Given the description of an element on the screen output the (x, y) to click on. 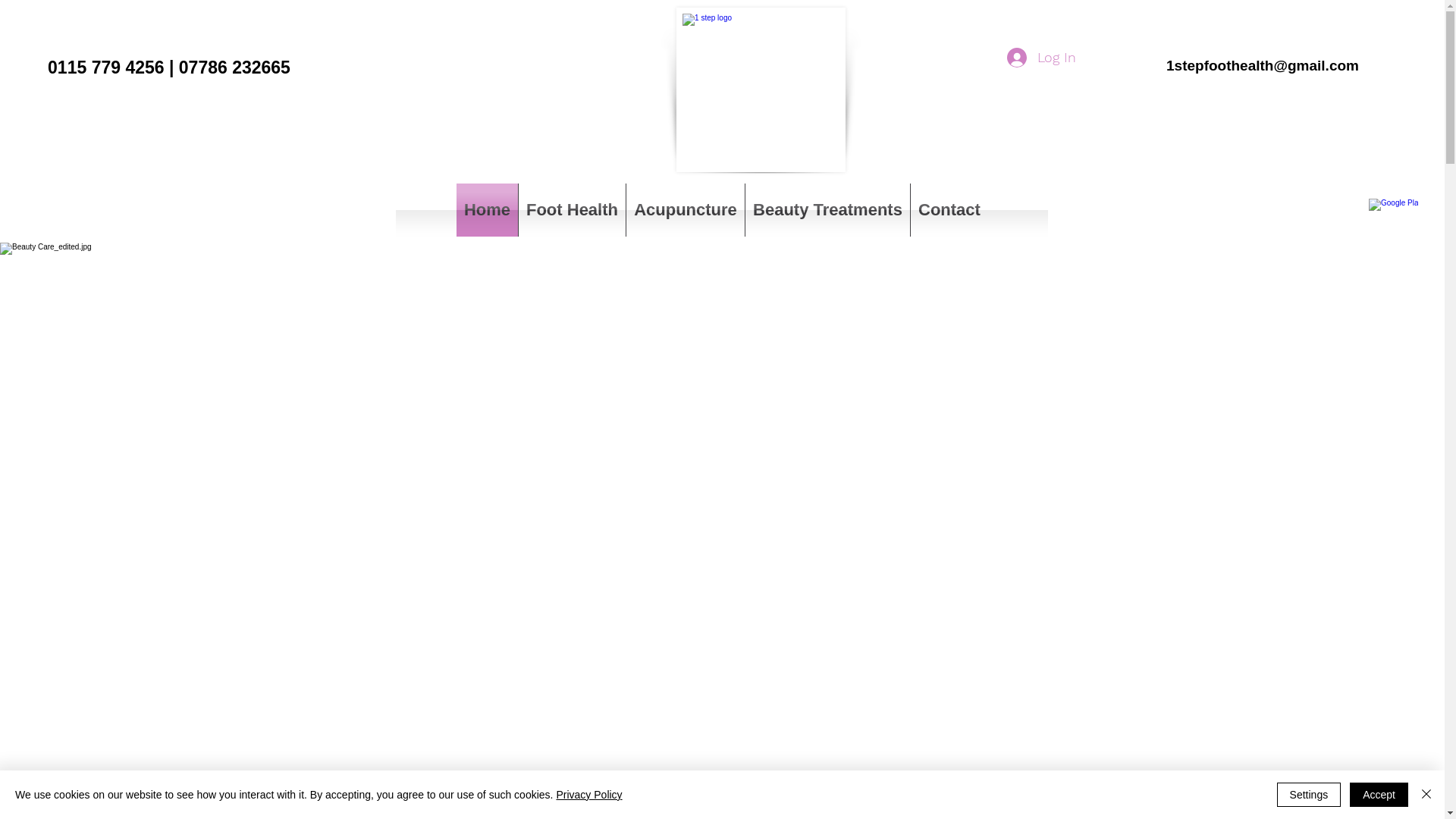
Accept Element type: text (1378, 794)
Privacy Policy Element type: text (588, 794)
0115 779 4256 Element type: text (105, 67)
07786 232665 Element type: text (234, 67)
Settings Element type: text (1309, 794)
1stepfoothealth@gmail.com Element type: text (1262, 65)
Foot Health Element type: text (571, 209)
Beauty Treatments Element type: text (827, 209)
Log In Element type: text (1041, 57)
Home Element type: text (486, 209)
Acupuncture Element type: text (685, 209)
Contact Element type: text (949, 209)
